Given the description of an element on the screen output the (x, y) to click on. 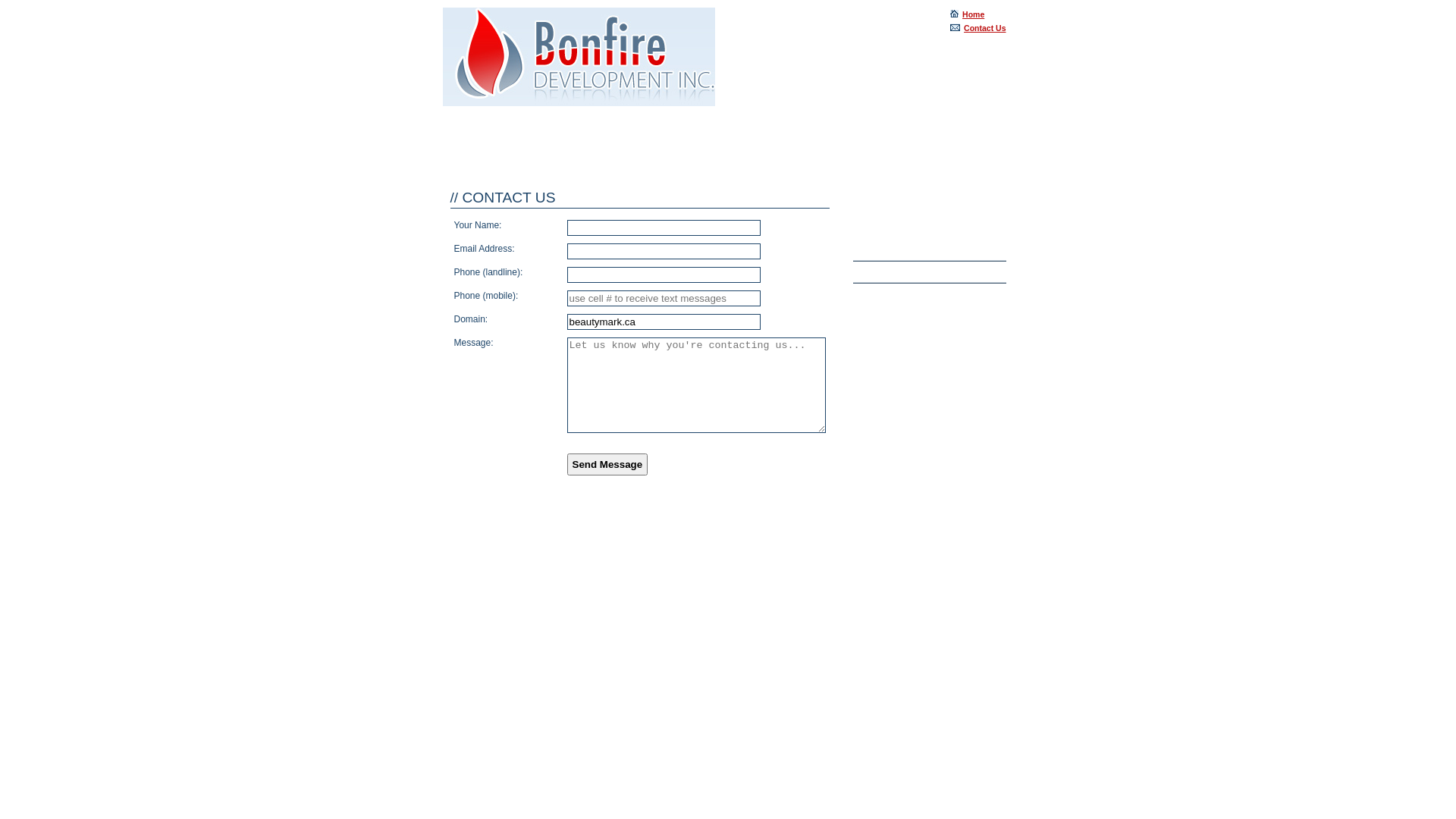
Contact Us Element type: text (934, 293)
Home Element type: text (967, 13)
Acquisitions Element type: text (934, 249)
Development Element type: text (934, 271)
Home Element type: hover (578, 57)
Contact Us Element type: text (977, 27)
Send Message Element type: text (607, 464)
